Given the description of an element on the screen output the (x, y) to click on. 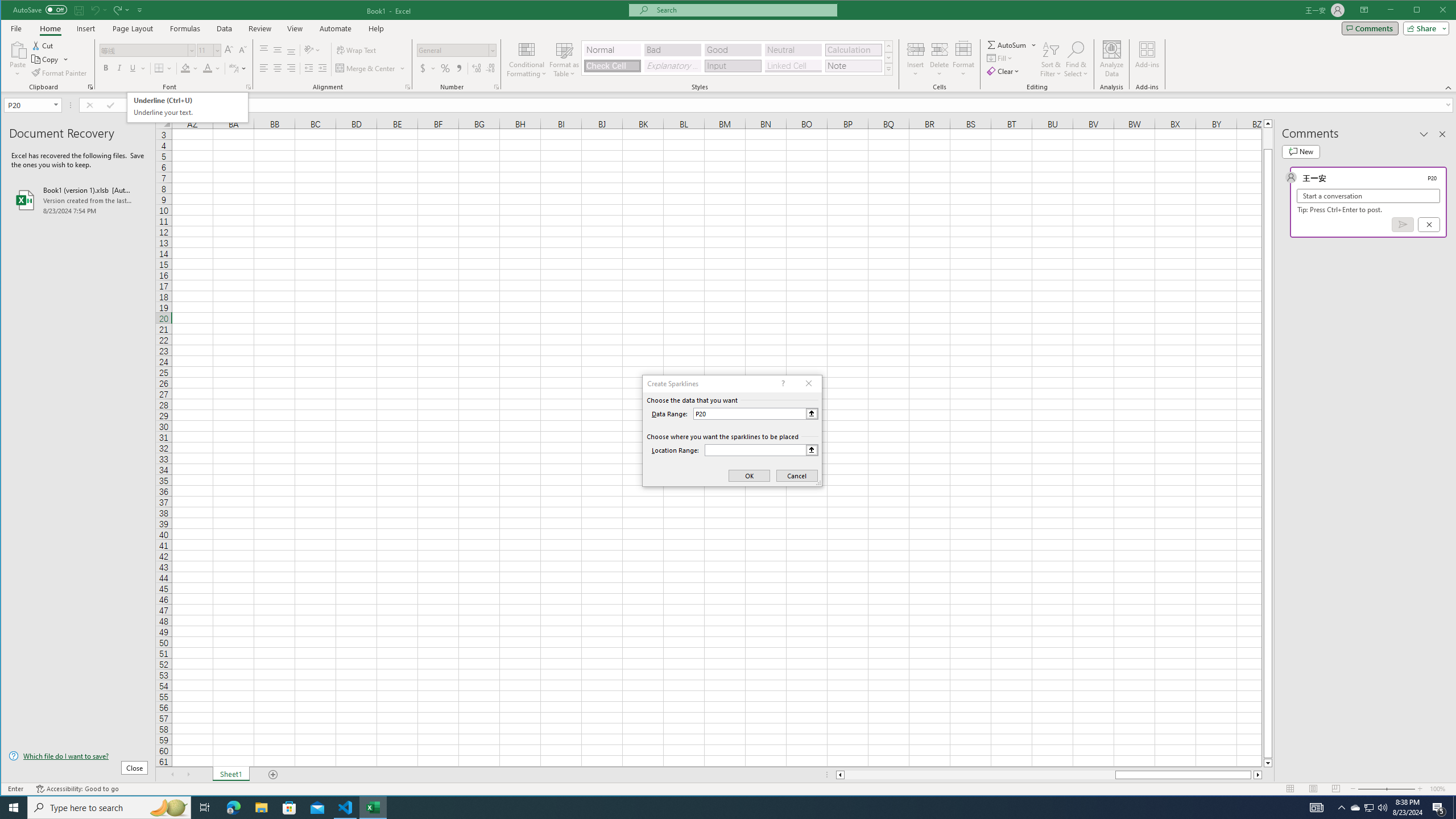
Middle Align (276, 49)
Comma Style (458, 68)
Decrease Indent (308, 68)
Check Cell (612, 65)
Copy (50, 59)
Paste (17, 59)
Insert Cells (915, 48)
Calculation (853, 49)
